Given the description of an element on the screen output the (x, y) to click on. 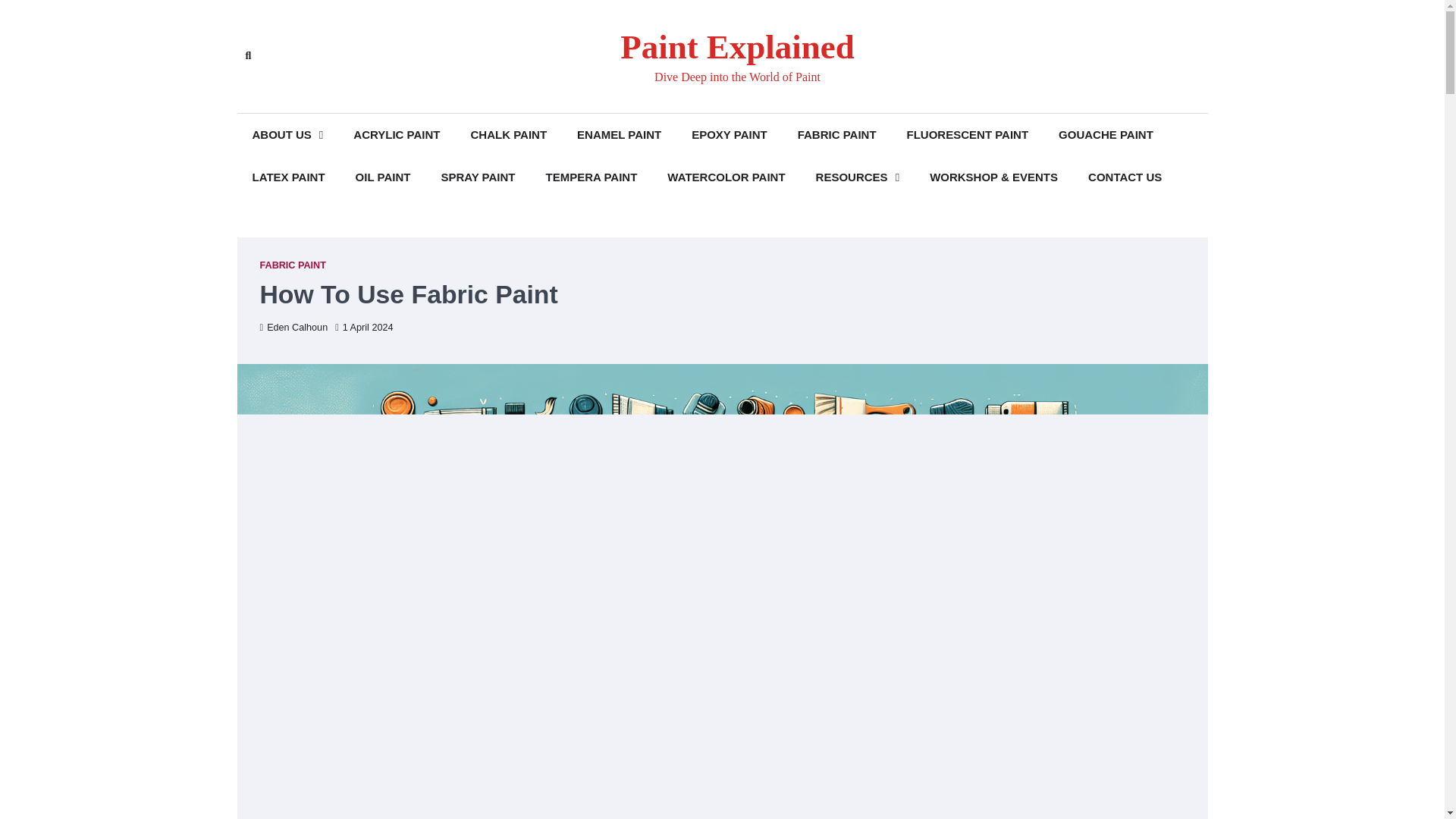
LATEX PAINT (287, 177)
Paint Explained (737, 47)
TEMPERA PAINT (590, 177)
ENAMEL PAINT (619, 135)
ACRYLIC PAINT (395, 135)
FABRIC PAINT (837, 135)
SPRAY PAINT (477, 177)
GOUACHE PAINT (1106, 135)
WATERCOLOR PAINT (725, 177)
FLUORESCENT PAINT (967, 135)
OIL PAINT (383, 177)
ABOUT US (286, 135)
CHALK PAINT (508, 135)
Search (443, 91)
Search (247, 56)
